Given the description of an element on the screen output the (x, y) to click on. 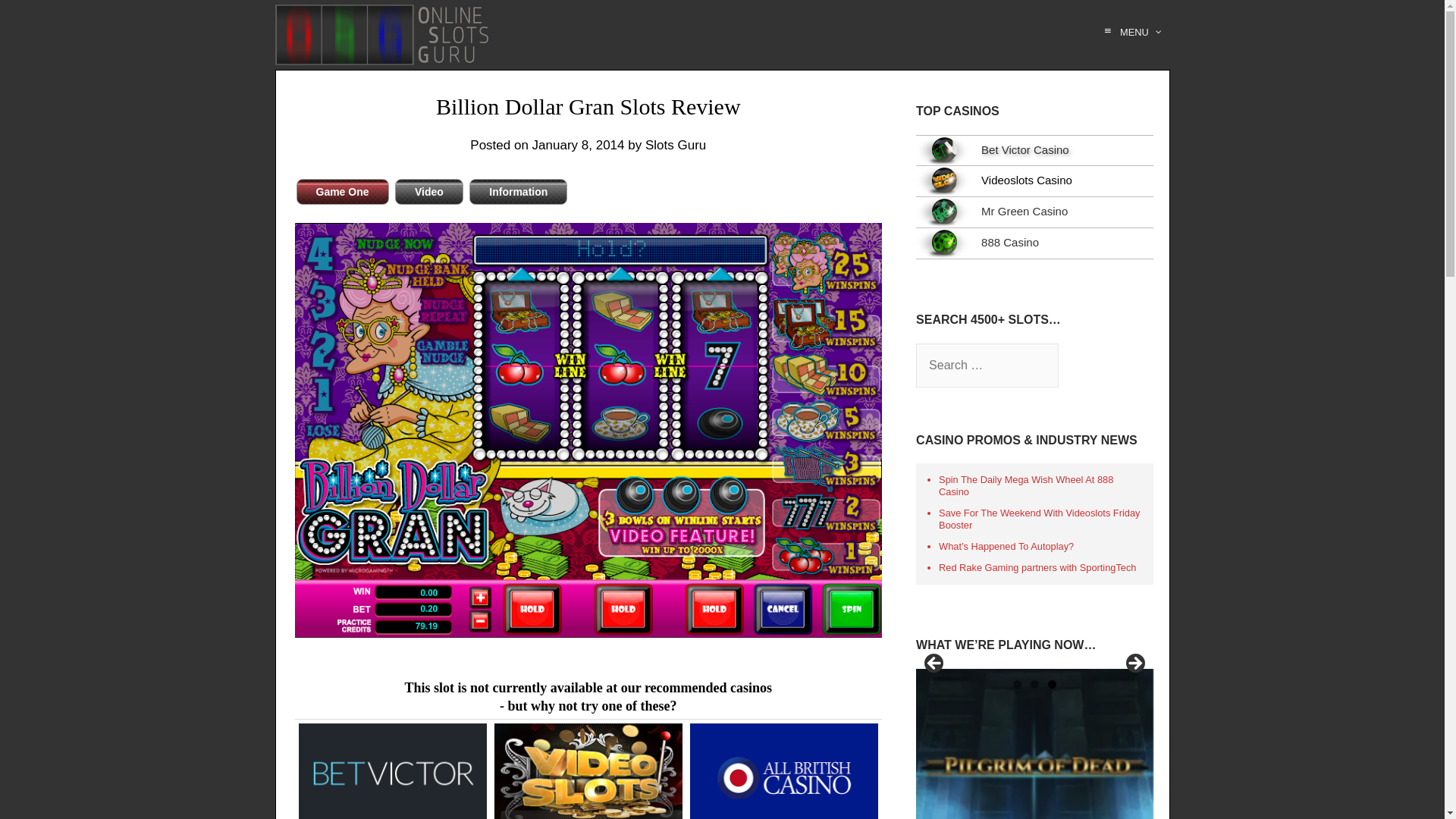
Information (517, 191)
Video (428, 191)
January 8, 2014 (578, 145)
pilgrim of dead slider (1034, 744)
MENU (1130, 31)
Slots Guru (675, 145)
Game One (341, 191)
